Given the description of an element on the screen output the (x, y) to click on. 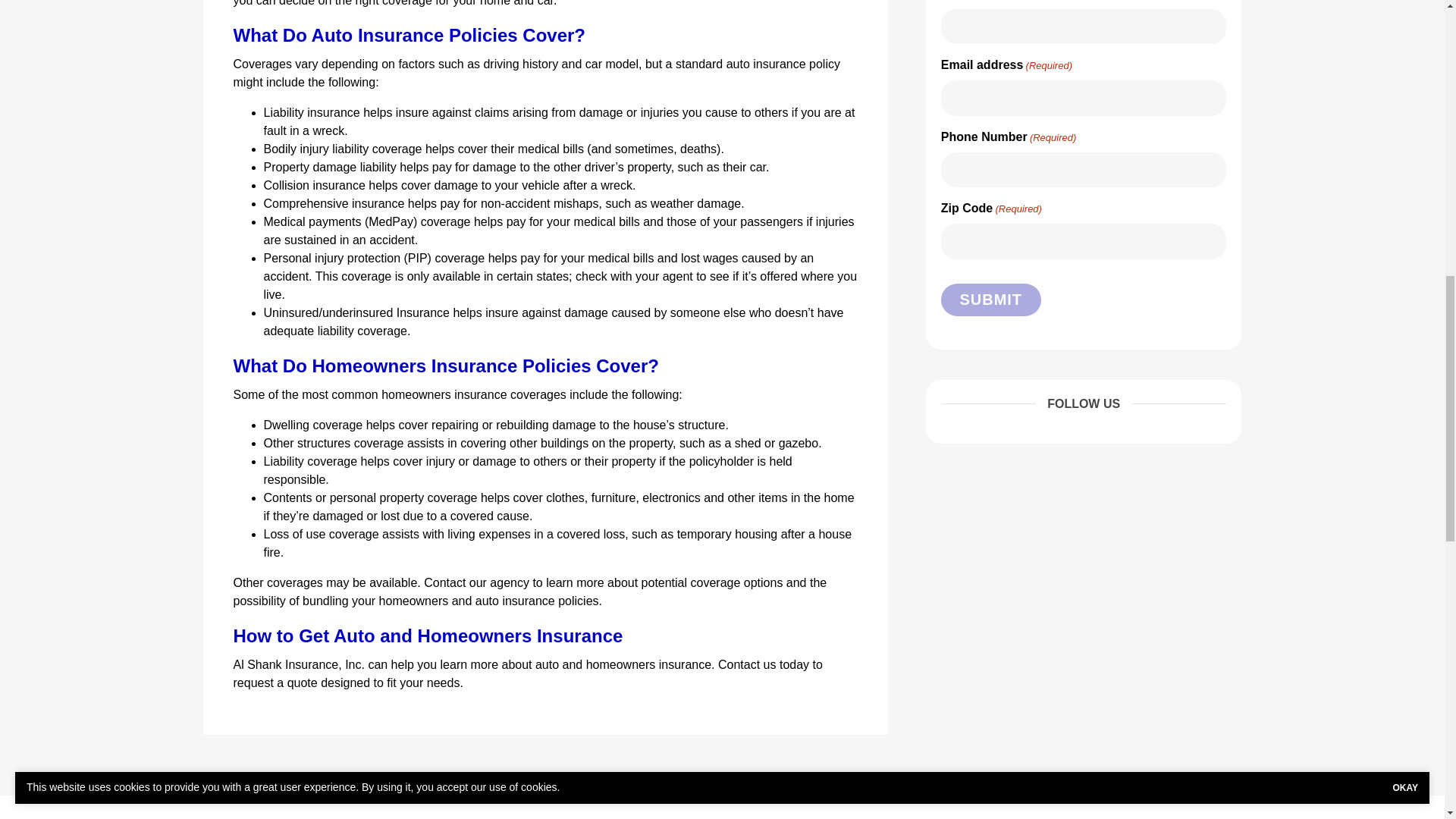
Submit (990, 299)
